Given the description of an element on the screen output the (x, y) to click on. 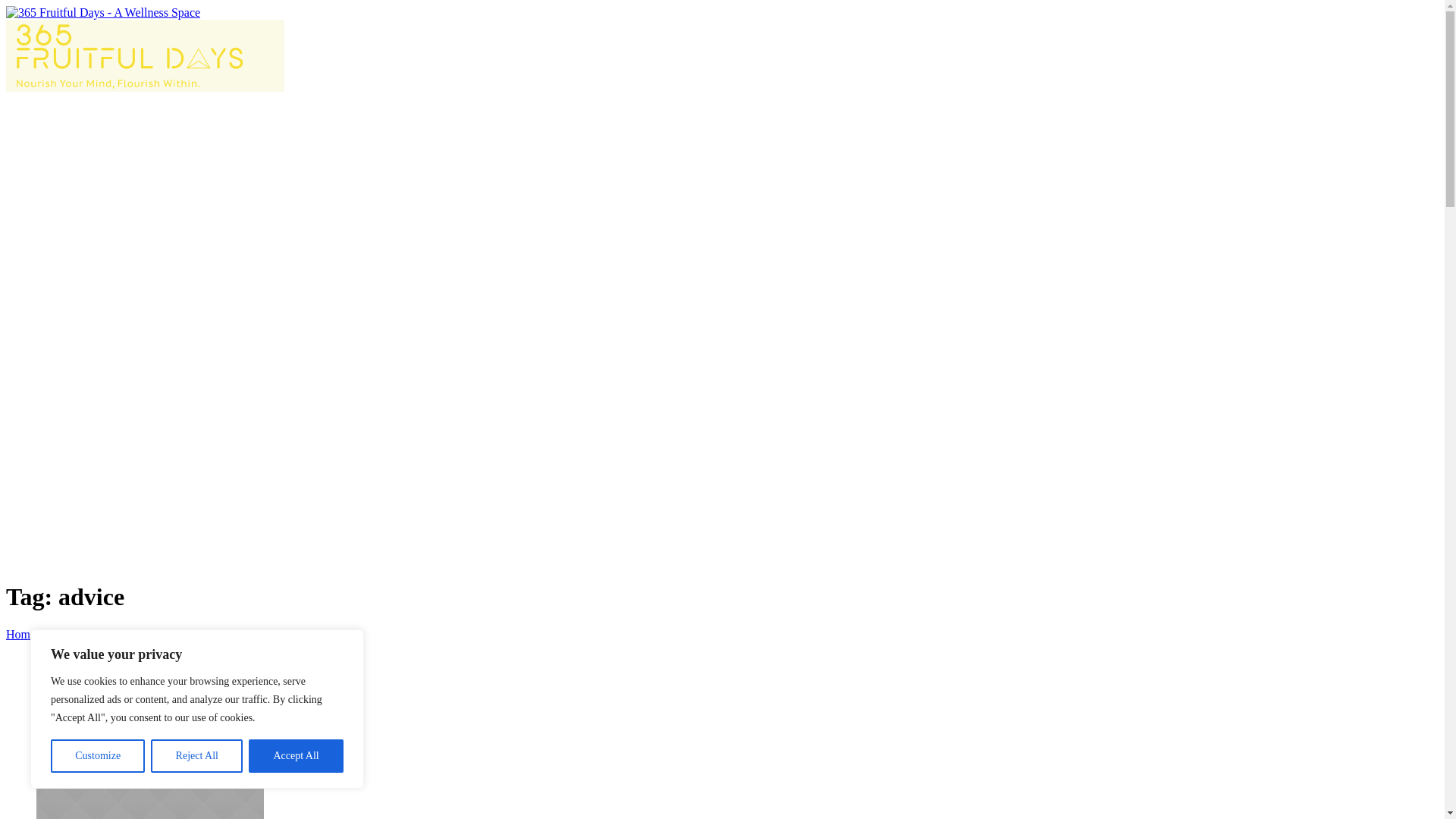
Reject All Element type: text (196, 755)
365 Fruitful Days - A Wellness Space Element type: hover (145, 50)
Home Element type: text (20, 633)
Accept All Element type: text (295, 755)
Customize Element type: text (97, 755)
